Given the description of an element on the screen output the (x, y) to click on. 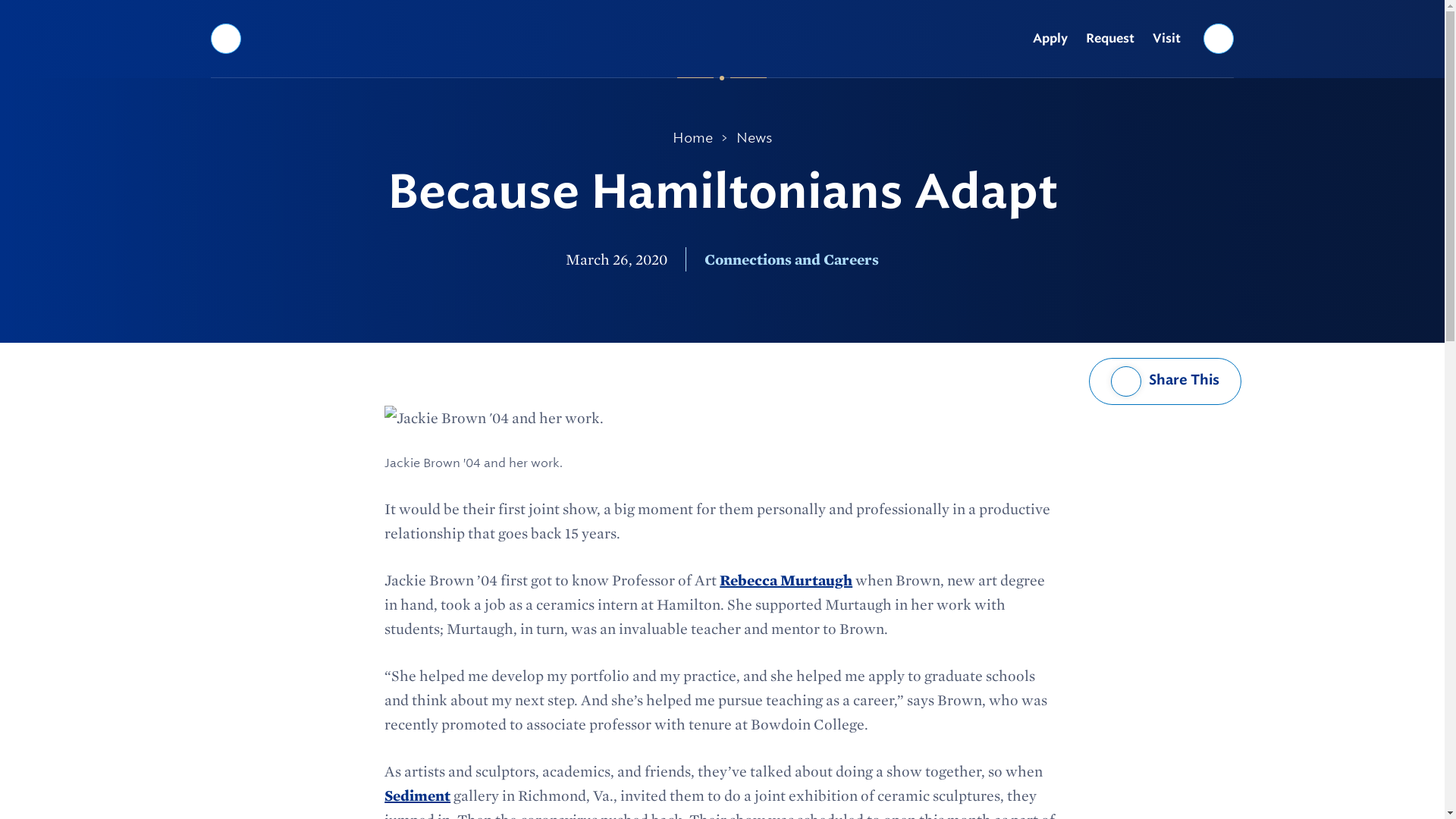
Rebecca Murtaugh (785, 579)
Search (1218, 38)
Sediment (416, 795)
Request (1109, 38)
Connections and Careers (791, 259)
Apply (1050, 38)
Home (692, 138)
Share This (1165, 380)
Visit (1165, 38)
News (753, 138)
